Given the description of an element on the screen output the (x, y) to click on. 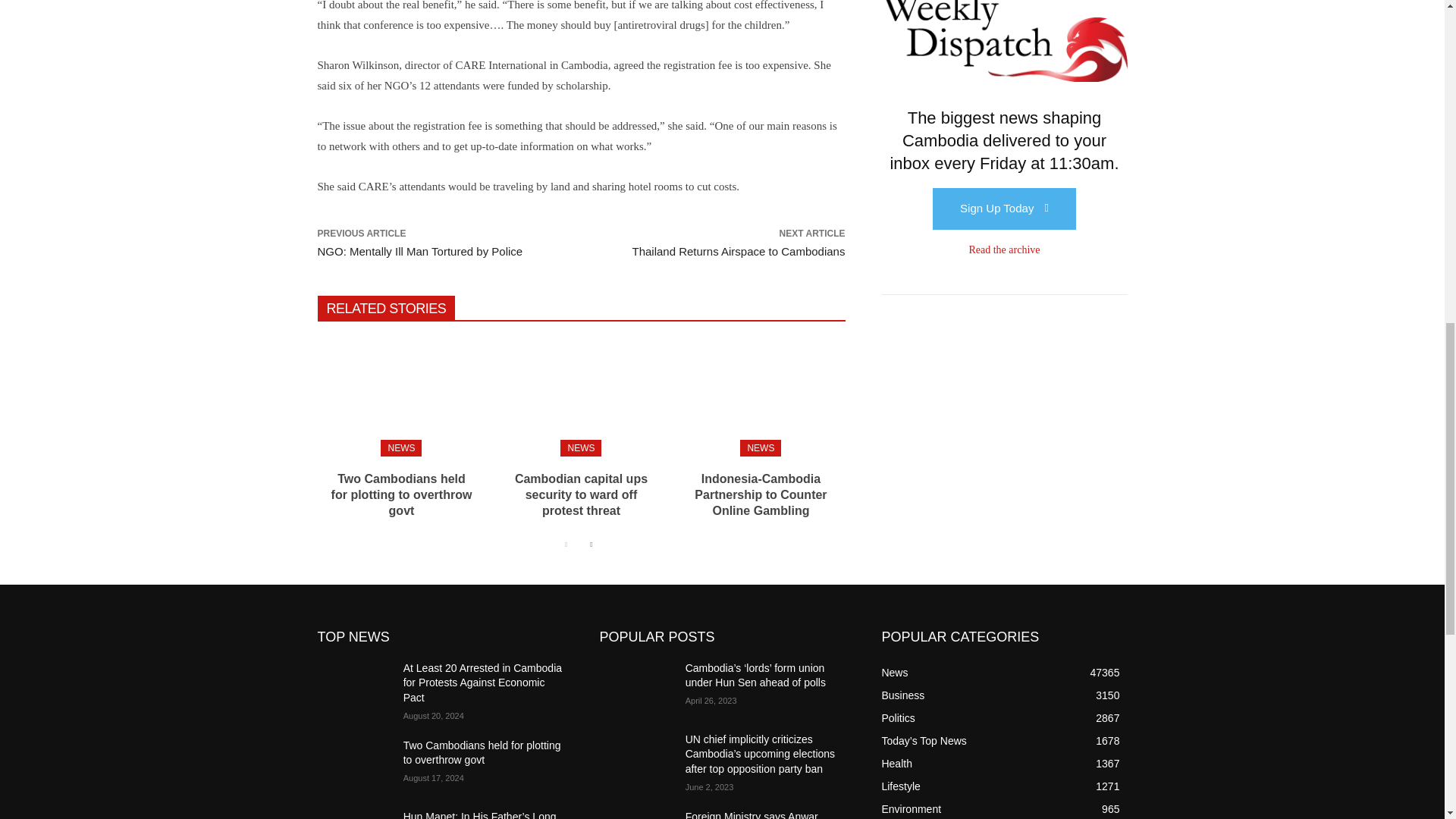
NEWS (580, 447)
NGO: Mentally Ill Man Tortured by Police (419, 250)
Cambodian capital ups security to ward off protest threat (581, 494)
Indonesia-Cambodia Partnership to Counter Online Gambling (760, 494)
Thailand Returns Airspace to Cambodians (737, 250)
Two Cambodians held for plotting to overthrow govt (401, 494)
Cambodian capital ups security to ward off protest threat (581, 494)
Two Cambodians held for plotting to overthrow govt (400, 394)
NEWS (759, 447)
NEWS (401, 447)
